Given the description of an element on the screen output the (x, y) to click on. 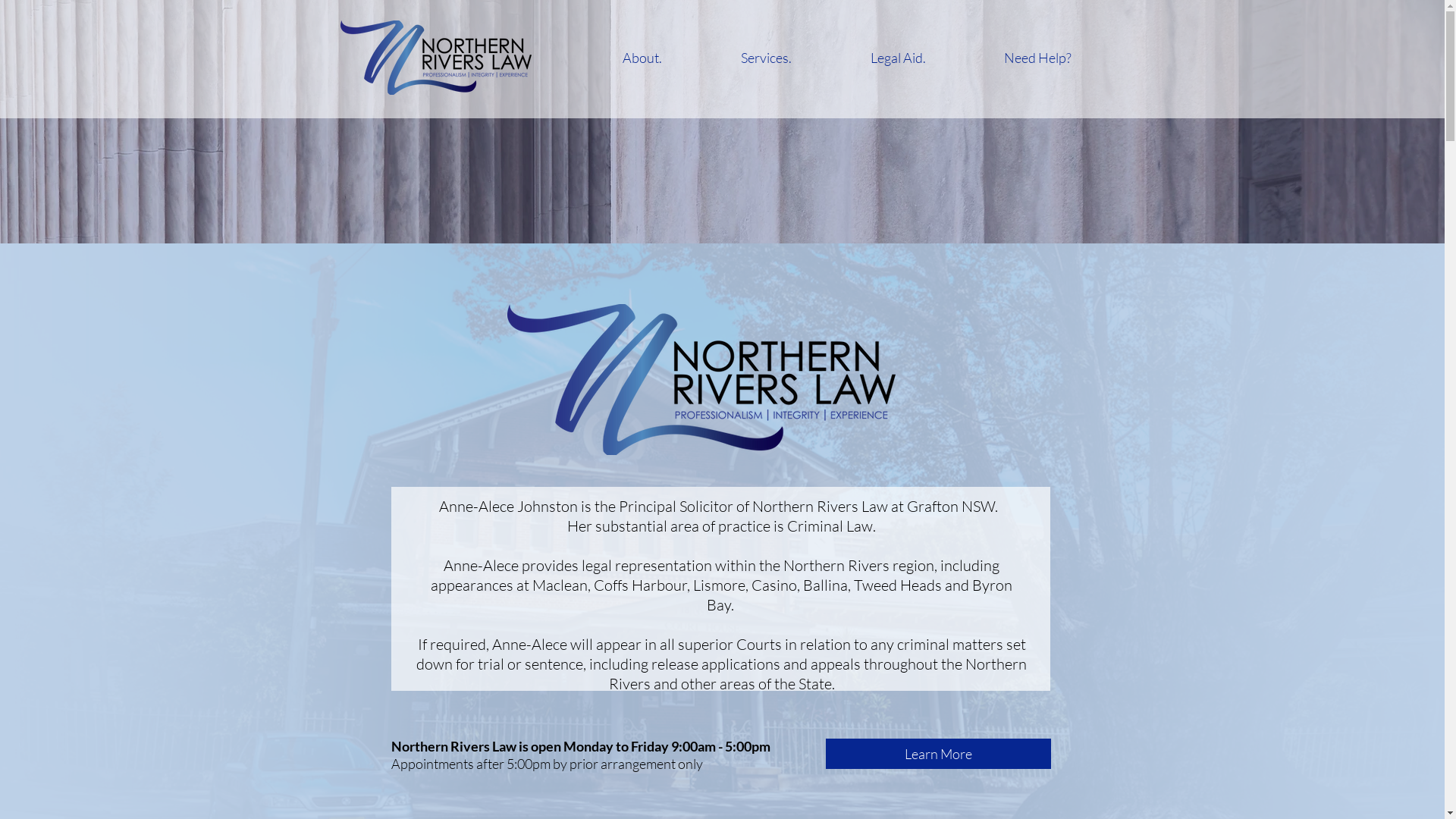
Learn More Element type: text (937, 753)
Legal Aid. Element type: text (898, 57)
Need Help? Element type: text (1037, 57)
Services. Element type: text (765, 57)
About. Element type: text (641, 57)
